Given the description of an element on the screen output the (x, y) to click on. 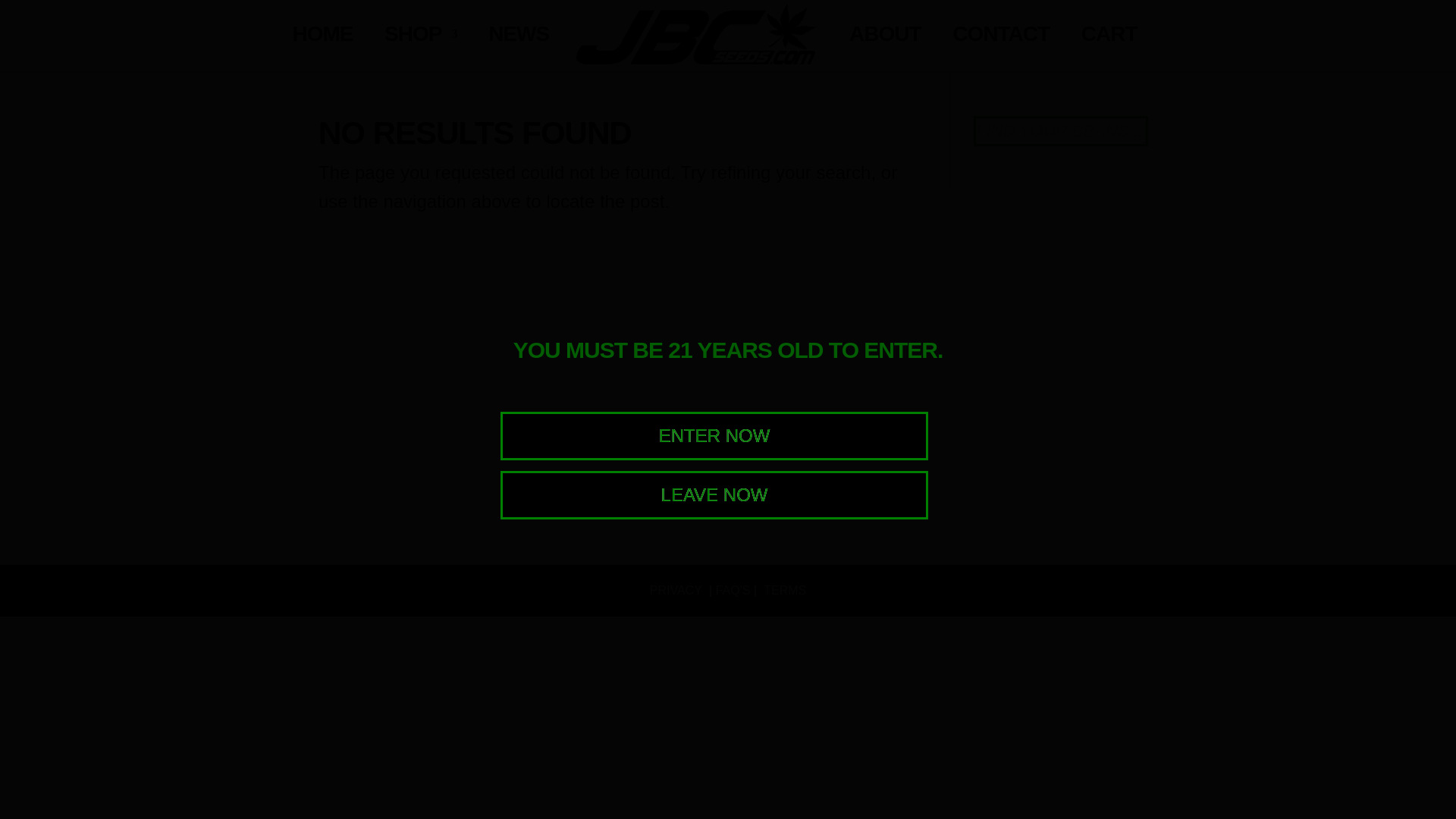
TERMS (784, 590)
PRIVACY (675, 590)
ENTER NOW (714, 435)
FAQ'S (733, 590)
LEAVE NOW (714, 494)
ABOUT (884, 50)
NEWS (517, 50)
CART (1109, 50)
SHOP (420, 50)
CONTACT (1000, 50)
HOME (322, 50)
ENTER NOW (714, 435)
LEAVE NOW (714, 494)
